Given the description of an element on the screen output the (x, y) to click on. 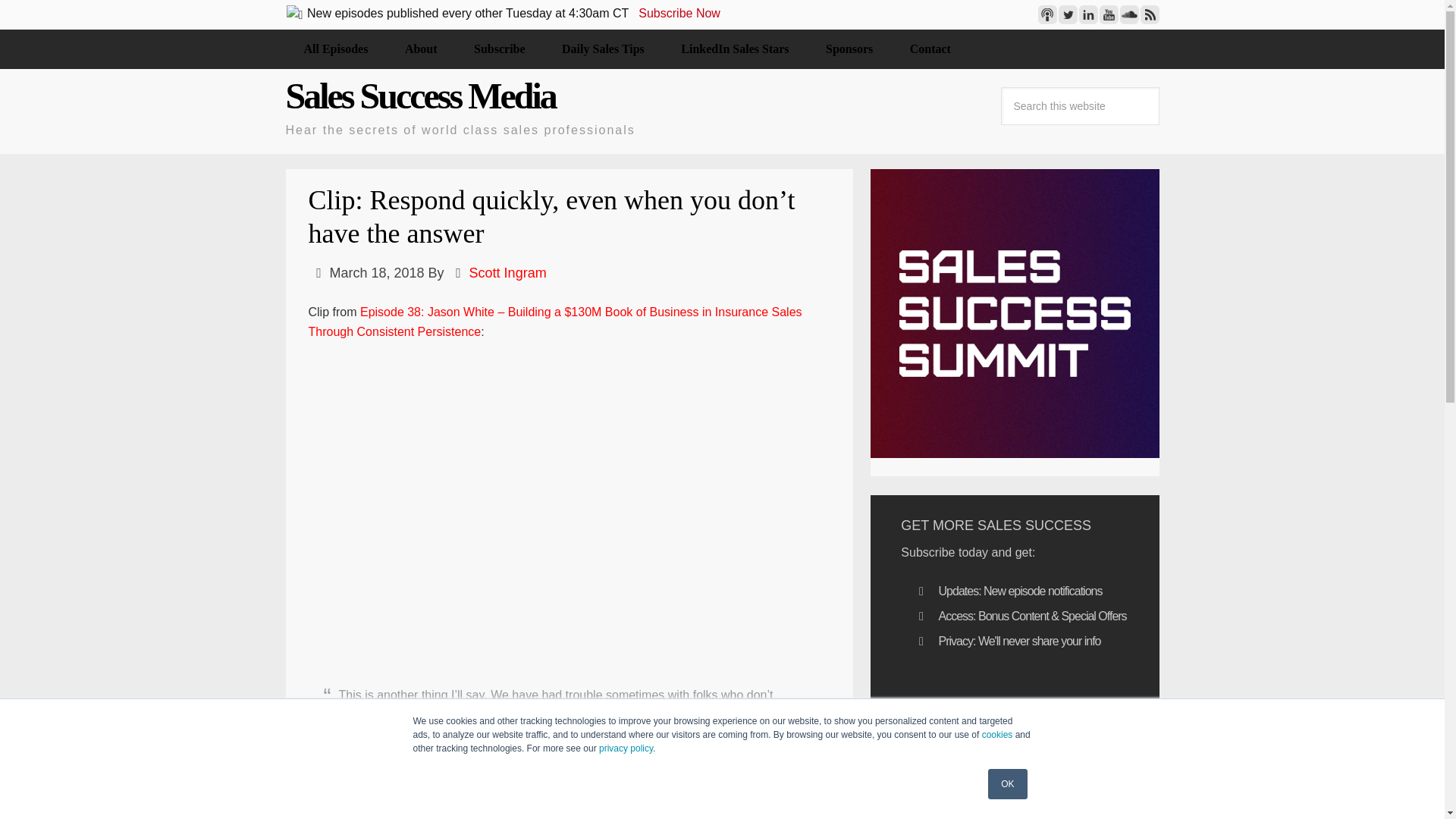
Subscribe (499, 48)
LinkedIn Sales Stars (734, 48)
All Episodes (335, 48)
cookies (997, 734)
Subscribe Now (679, 12)
Form 0 (1014, 744)
Daily Sales Tips (602, 48)
About (421, 48)
Sponsors (849, 48)
Scott Ingram (507, 272)
Sales Success Media (419, 96)
privacy policy (625, 747)
OK (1007, 784)
Contact (930, 48)
